Given the description of an element on the screen output the (x, y) to click on. 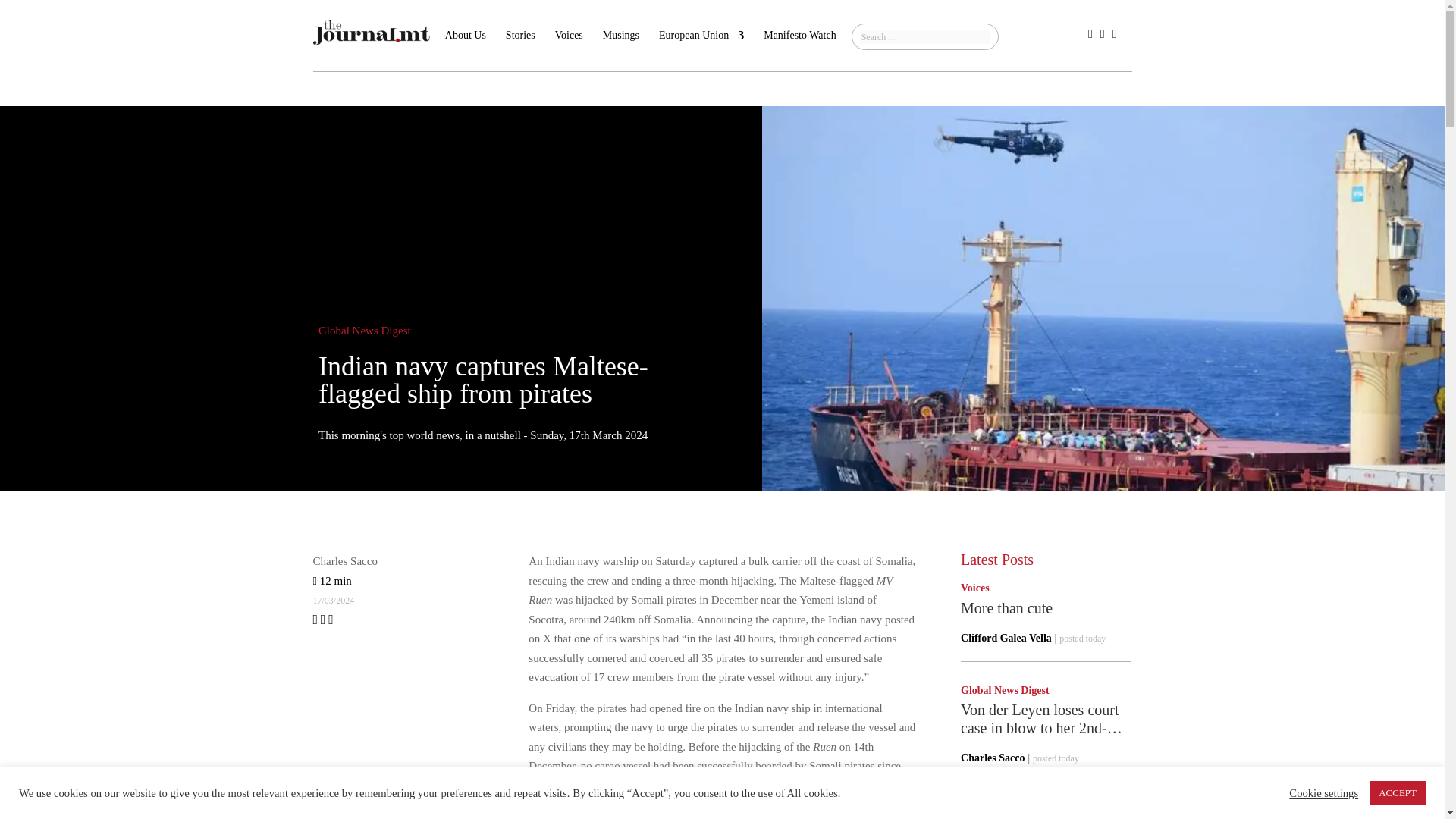
About Us (465, 48)
Manifesto Watch (798, 48)
Search for: (925, 37)
Musings (620, 48)
European Union (701, 48)
